Given the description of an element on the screen output the (x, y) to click on. 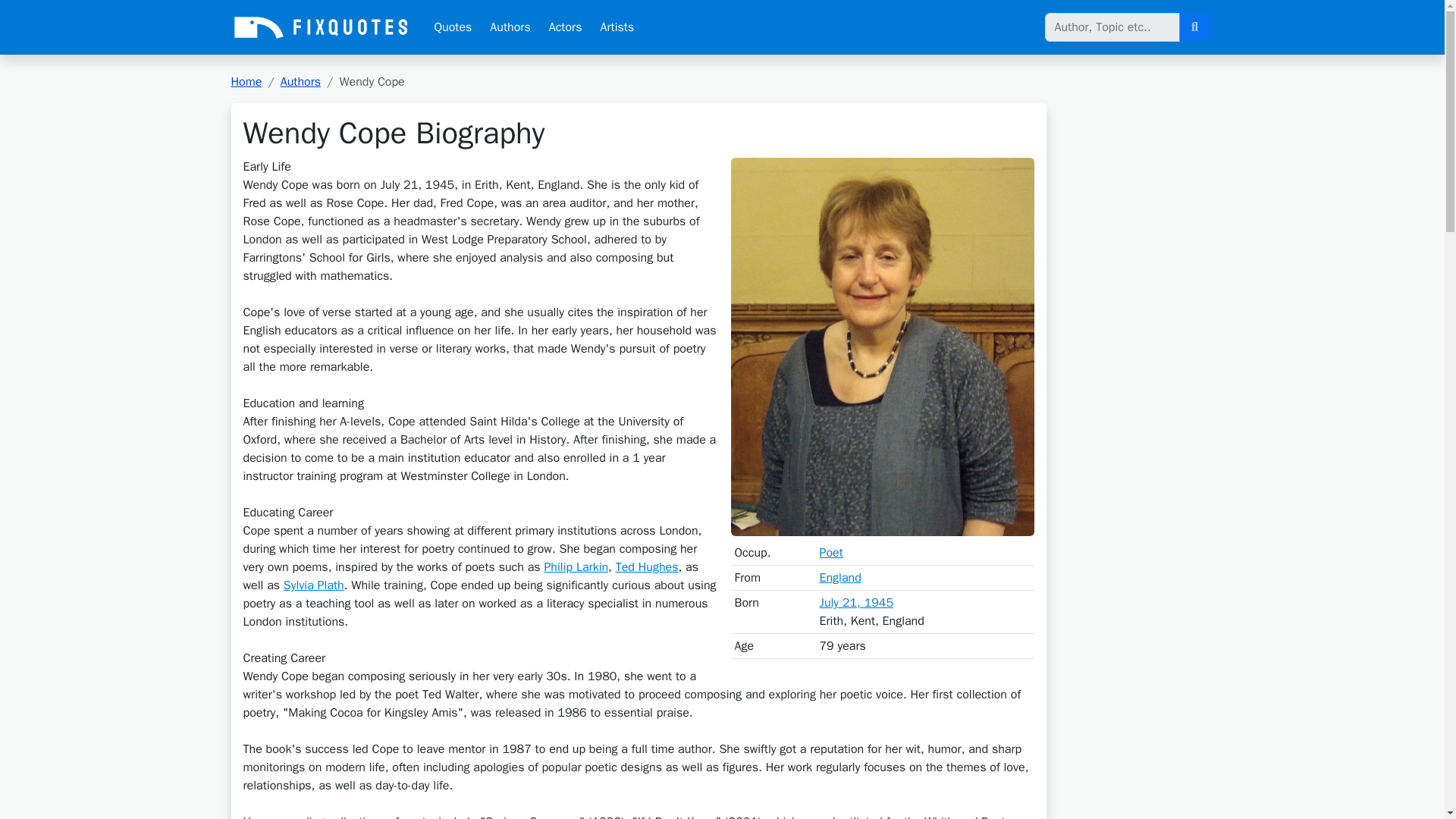
Philip Larkin (575, 566)
Authors (300, 81)
Click to search (1193, 26)
England (839, 577)
Sylvia Plath (313, 585)
Poet (830, 552)
Actors (565, 27)
July 21, 1945 (855, 602)
Authors (509, 27)
Home (246, 81)
